Given the description of an element on the screen output the (x, y) to click on. 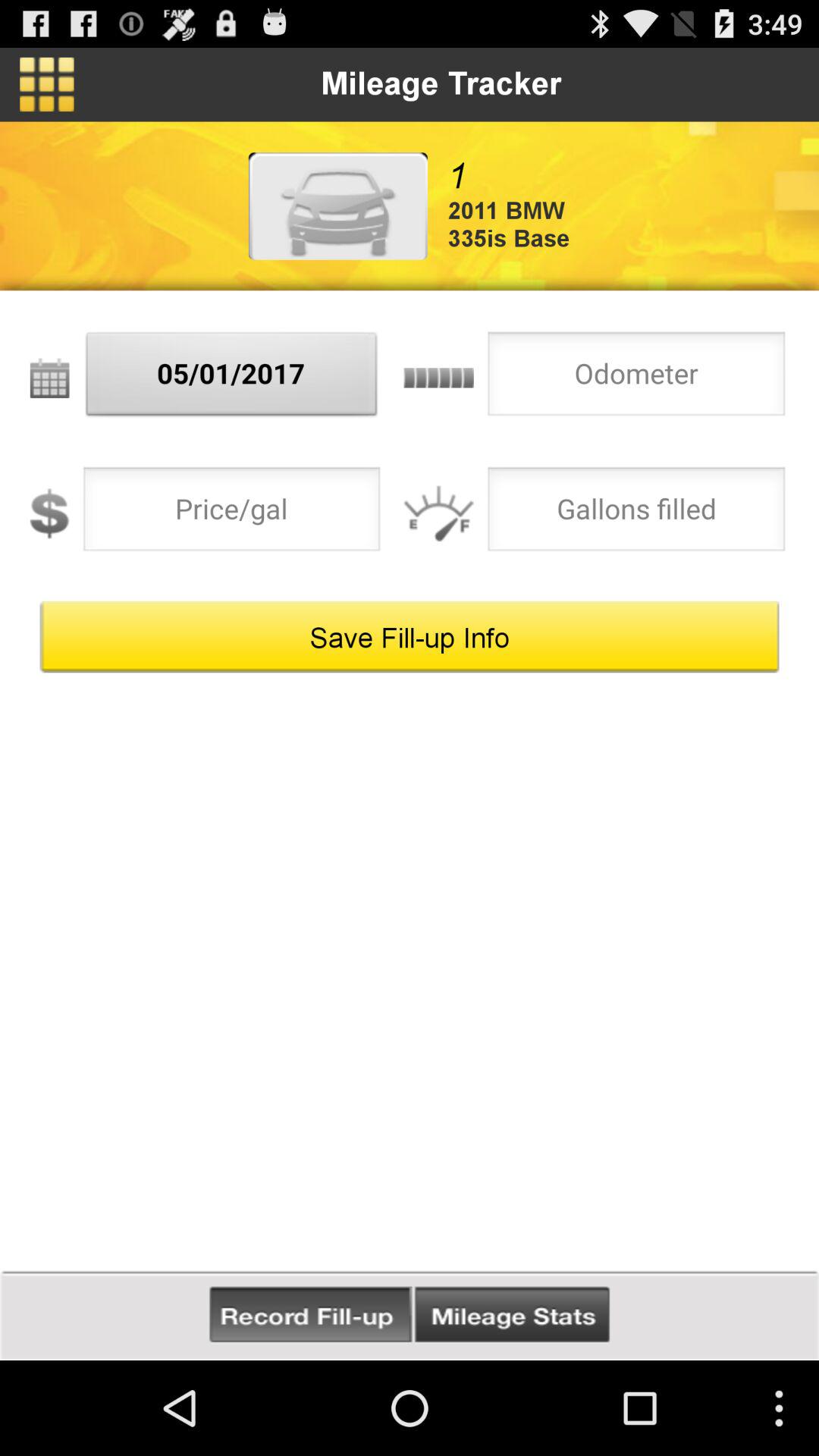
open the app to the left of mileage tracker item (46, 84)
